Given the description of an element on the screen output the (x, y) to click on. 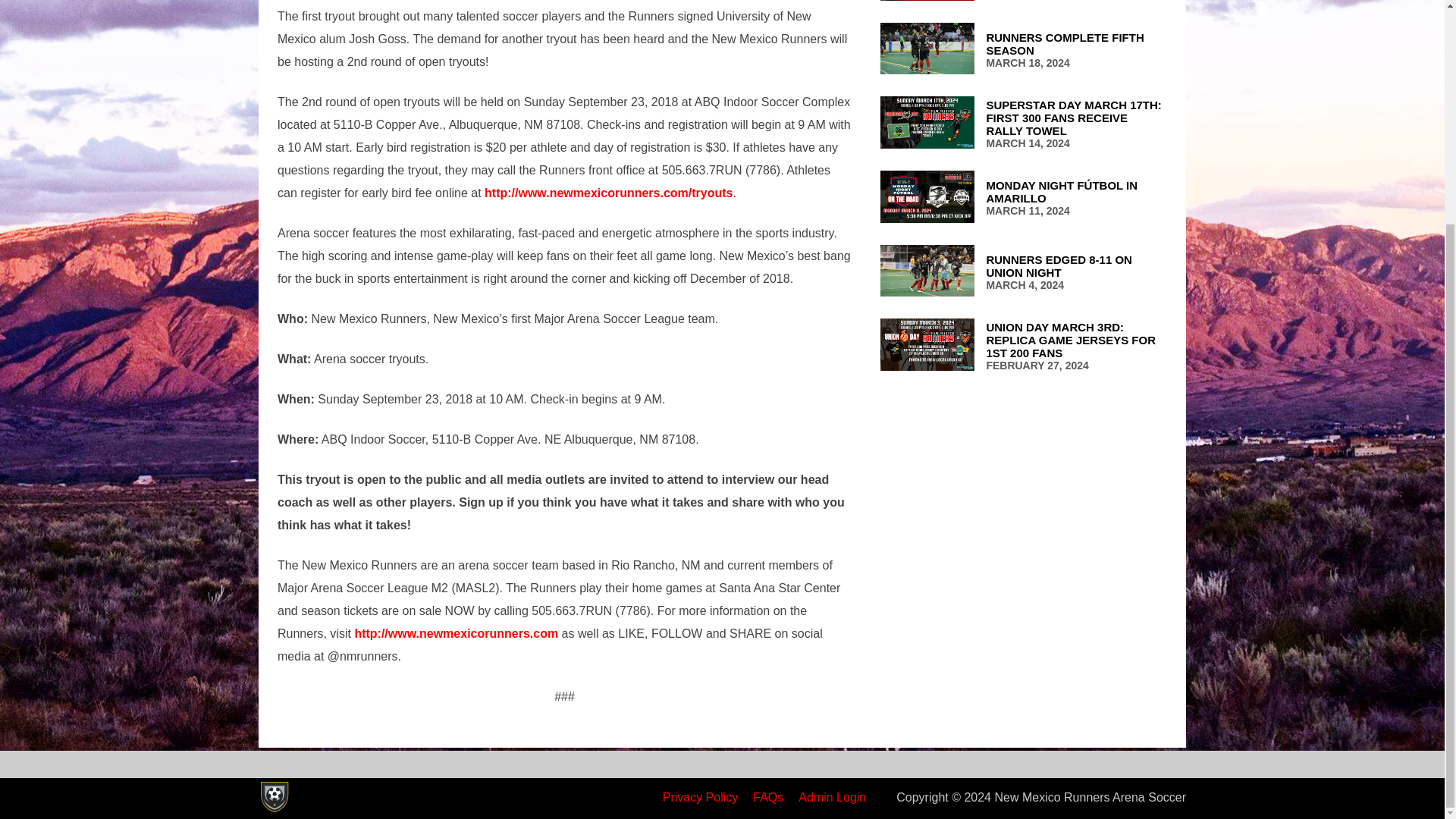
Powered by SoccerShift (273, 797)
